Given the description of an element on the screen output the (x, y) to click on. 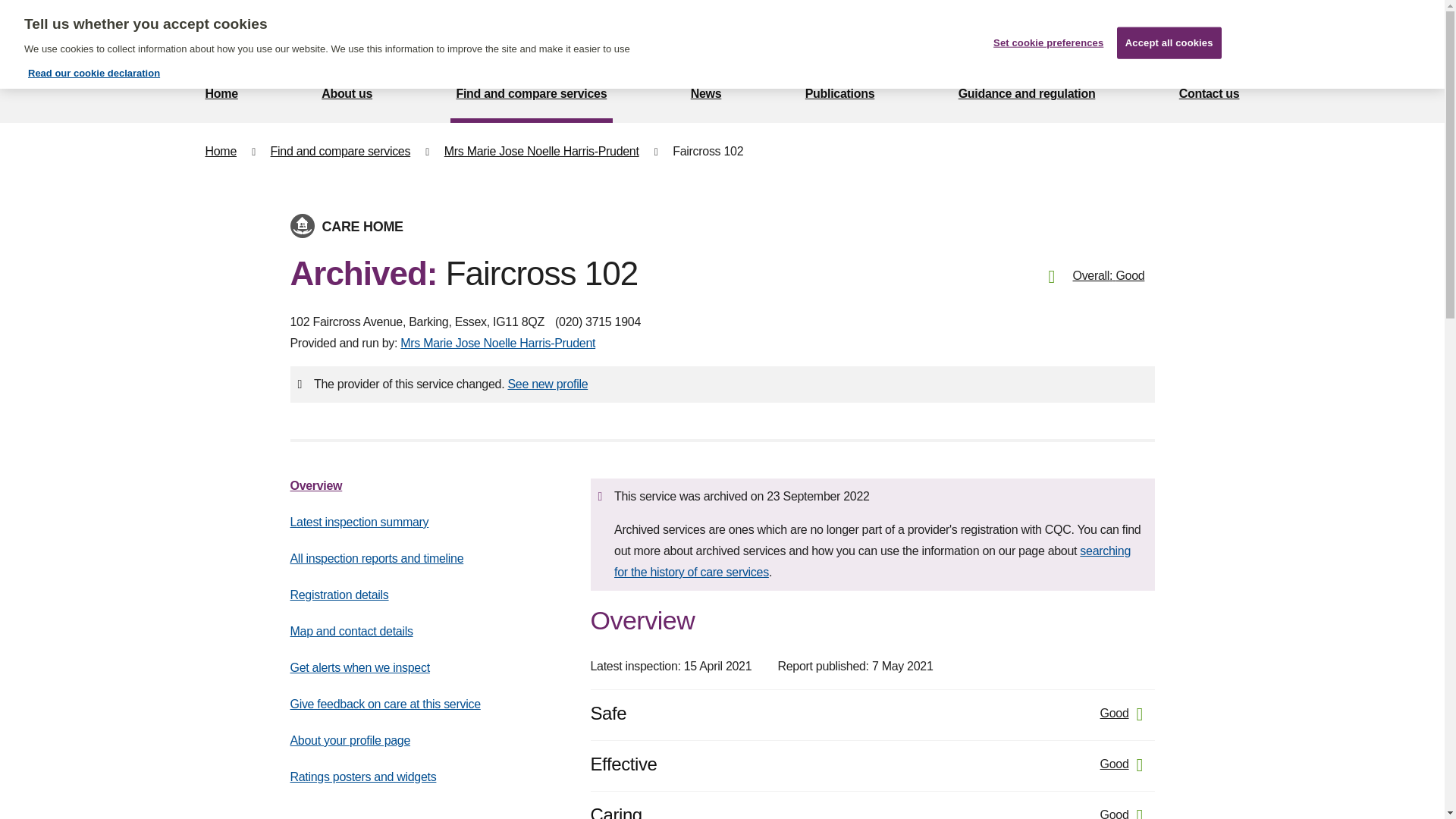
Give feedback on care at this service (384, 703)
Latest inspection summary (358, 521)
Provider portal (885, 33)
Publications (839, 94)
Feedback on care (735, 33)
All inspection reports and timeline (376, 558)
Map and contact details (350, 631)
Guidance and regulation (1027, 94)
Get alerts when we inspect (359, 667)
Registration details (338, 594)
About us (346, 94)
Find and compare services (340, 151)
See new profile (547, 383)
Contact us (1209, 94)
Home (220, 151)
